Given the description of an element on the screen output the (x, y) to click on. 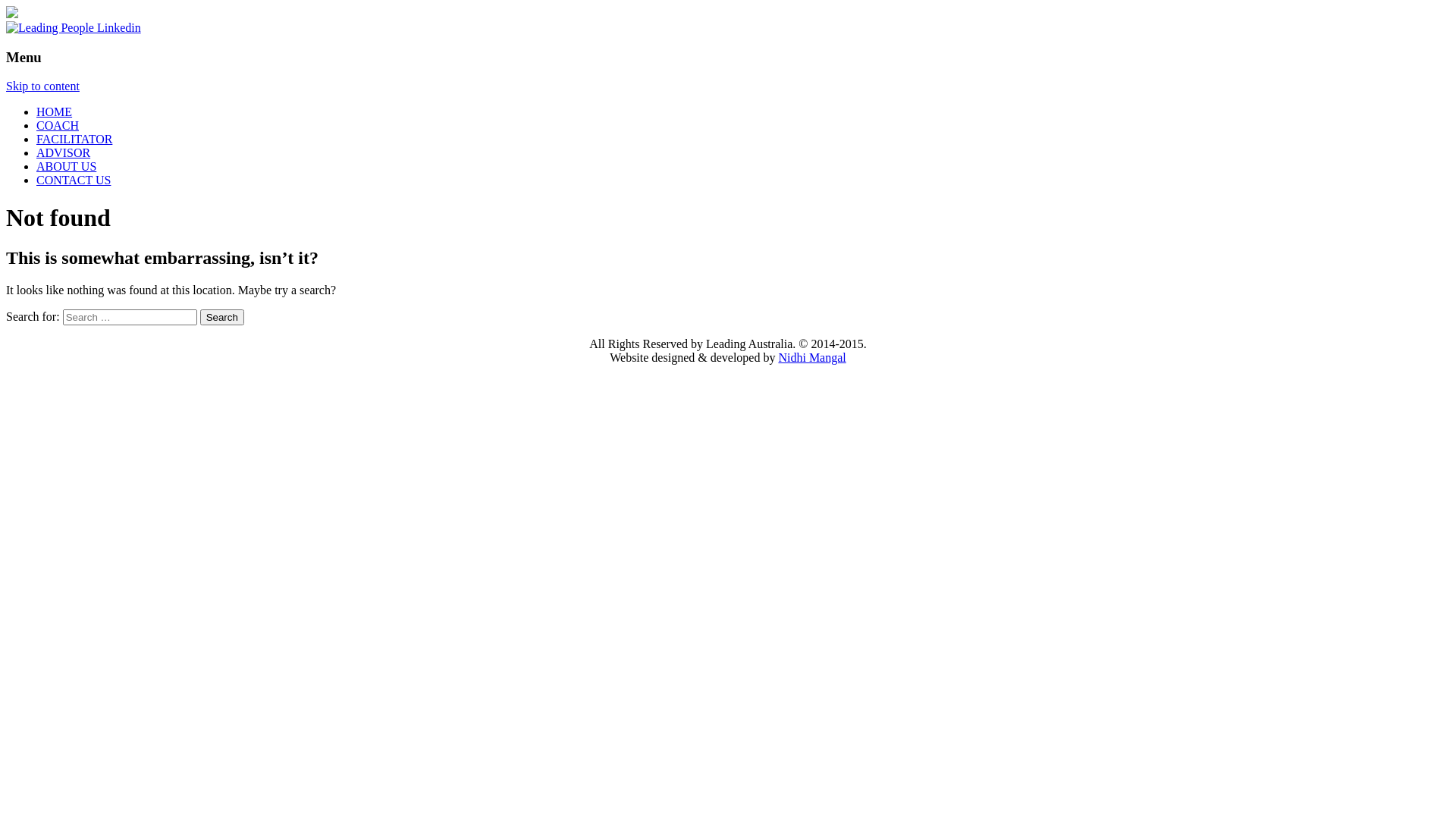
Search Element type: text (222, 317)
CONTACT US Element type: text (73, 179)
Leading People Element type: hover (12, 13)
ADVISOR Element type: text (63, 152)
Connect on Linkedin Element type: hover (73, 27)
Nidhi Mangal Element type: text (811, 357)
HOME Element type: text (54, 111)
COACH Element type: text (57, 125)
Skip to content Element type: text (42, 85)
ABOUT US Element type: text (66, 166)
FACILITATOR Element type: text (74, 138)
